Given the description of an element on the screen output the (x, y) to click on. 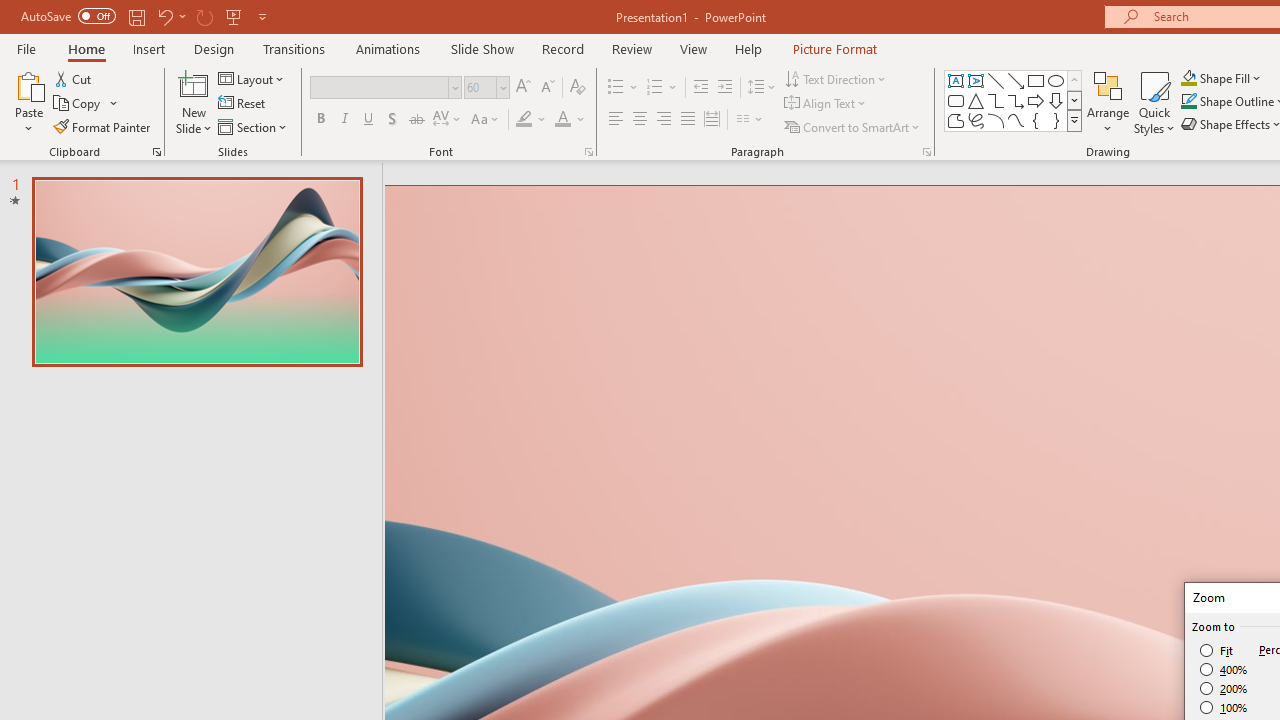
Fit (1217, 650)
